Given the description of an element on the screen output the (x, y) to click on. 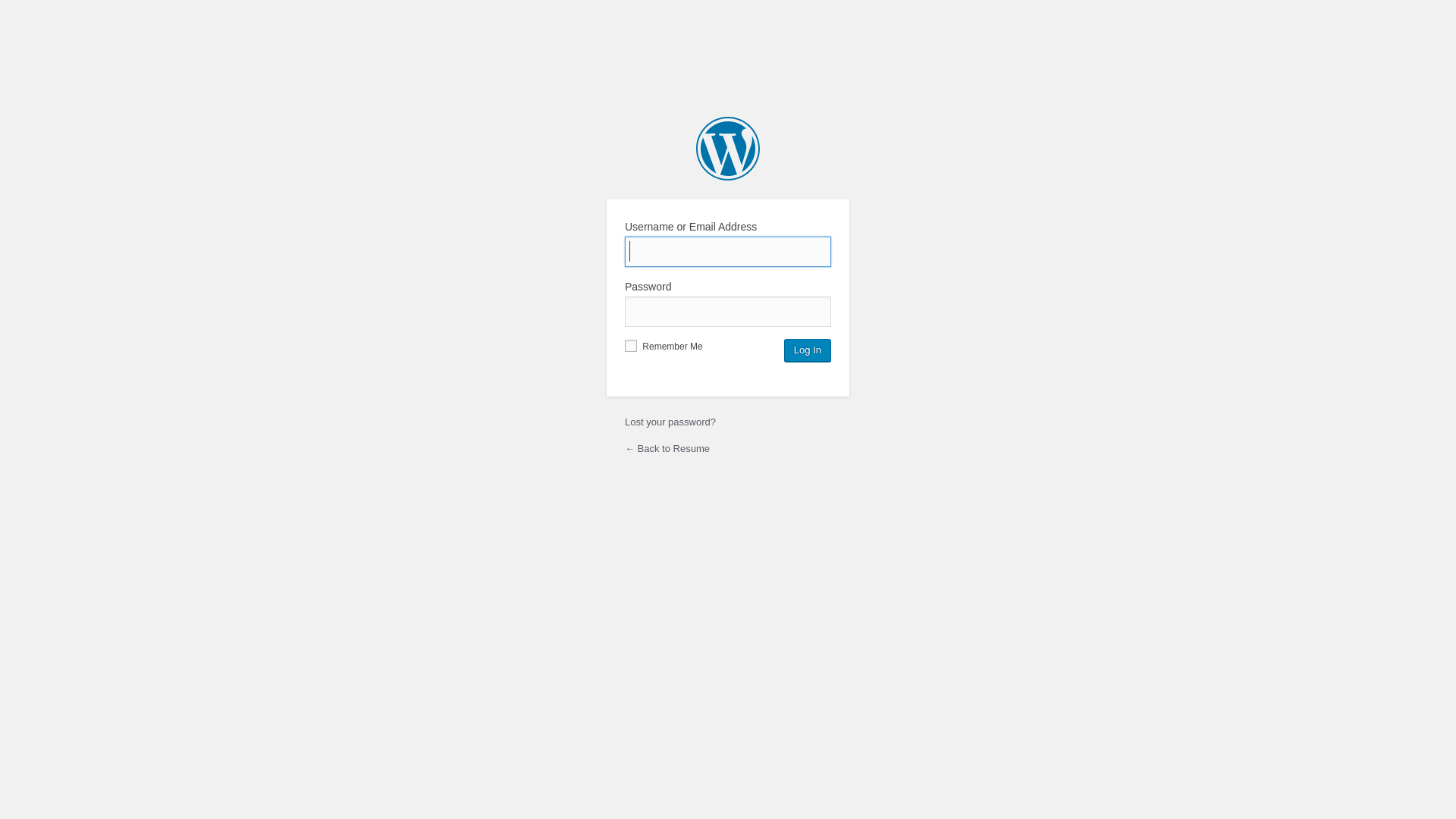
Powered by WordPress Element type: text (727, 148)
Log In Element type: text (807, 349)
Lost your password? Element type: text (669, 421)
